Given the description of an element on the screen output the (x, y) to click on. 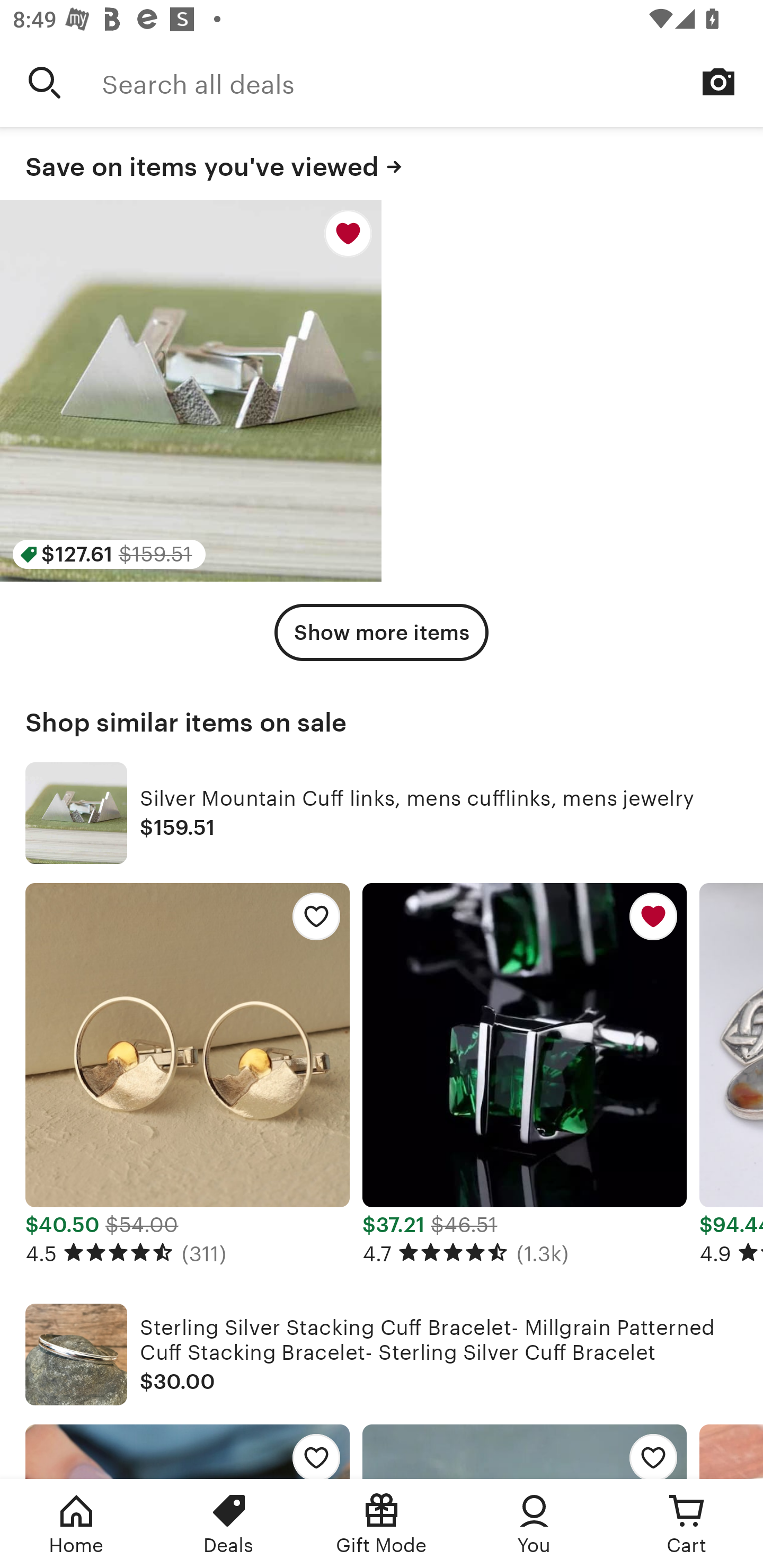
Search for anything on Etsy (44, 82)
Search by image (718, 81)
Search all deals (432, 82)
Save on items you've viewed (381, 164)
Show more items (381, 632)
Home (76, 1523)
Gift Mode (381, 1523)
You (533, 1523)
Cart (686, 1523)
